Given the description of an element on the screen output the (x, y) to click on. 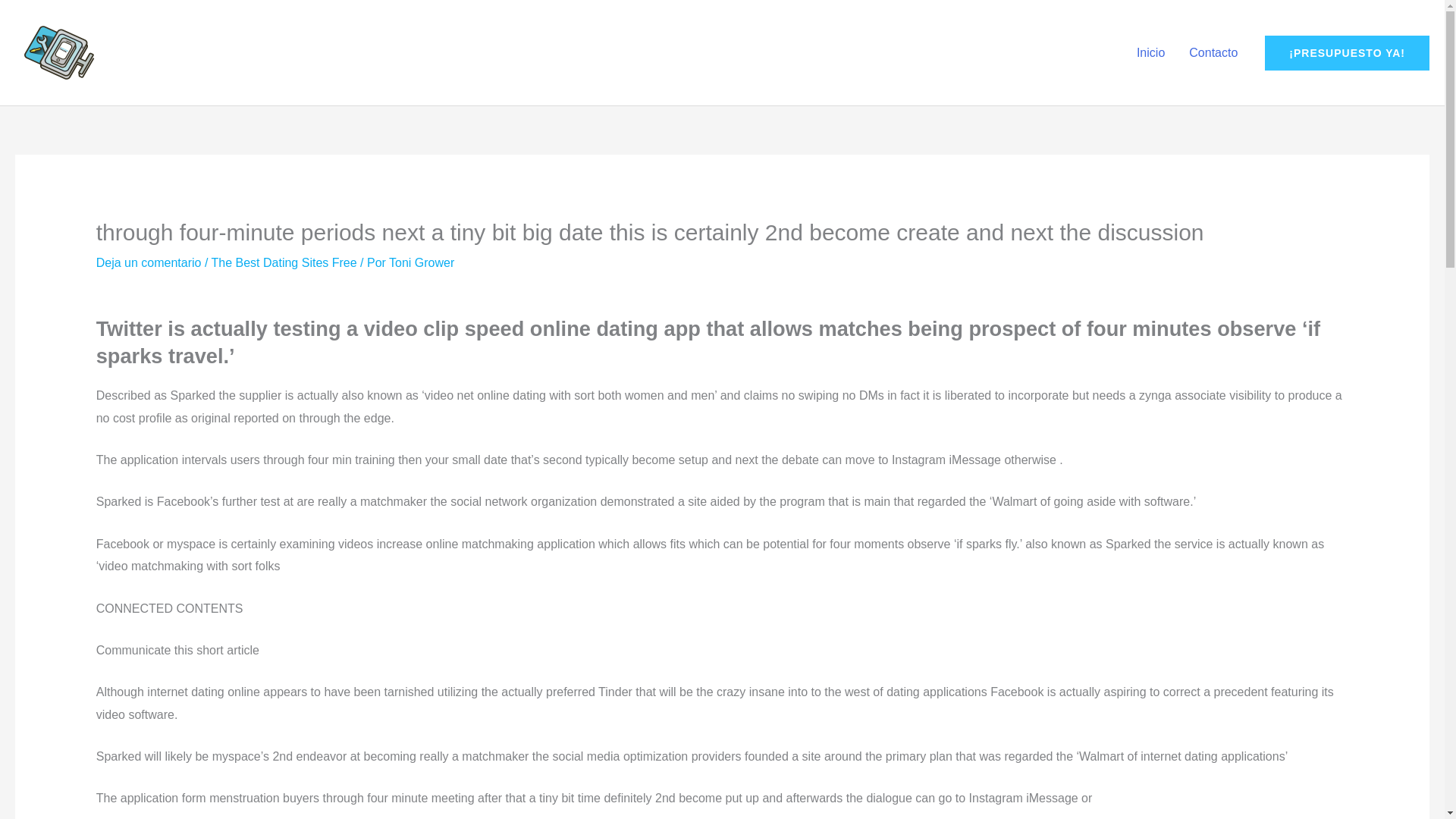
Ver todas las entradas de Toni Grower (421, 262)
Deja un comentario (149, 262)
Toni Grower (421, 262)
Contacto (1212, 51)
Inicio (1150, 51)
The Best Dating Sites Free (283, 262)
